Given the description of an element on the screen output the (x, y) to click on. 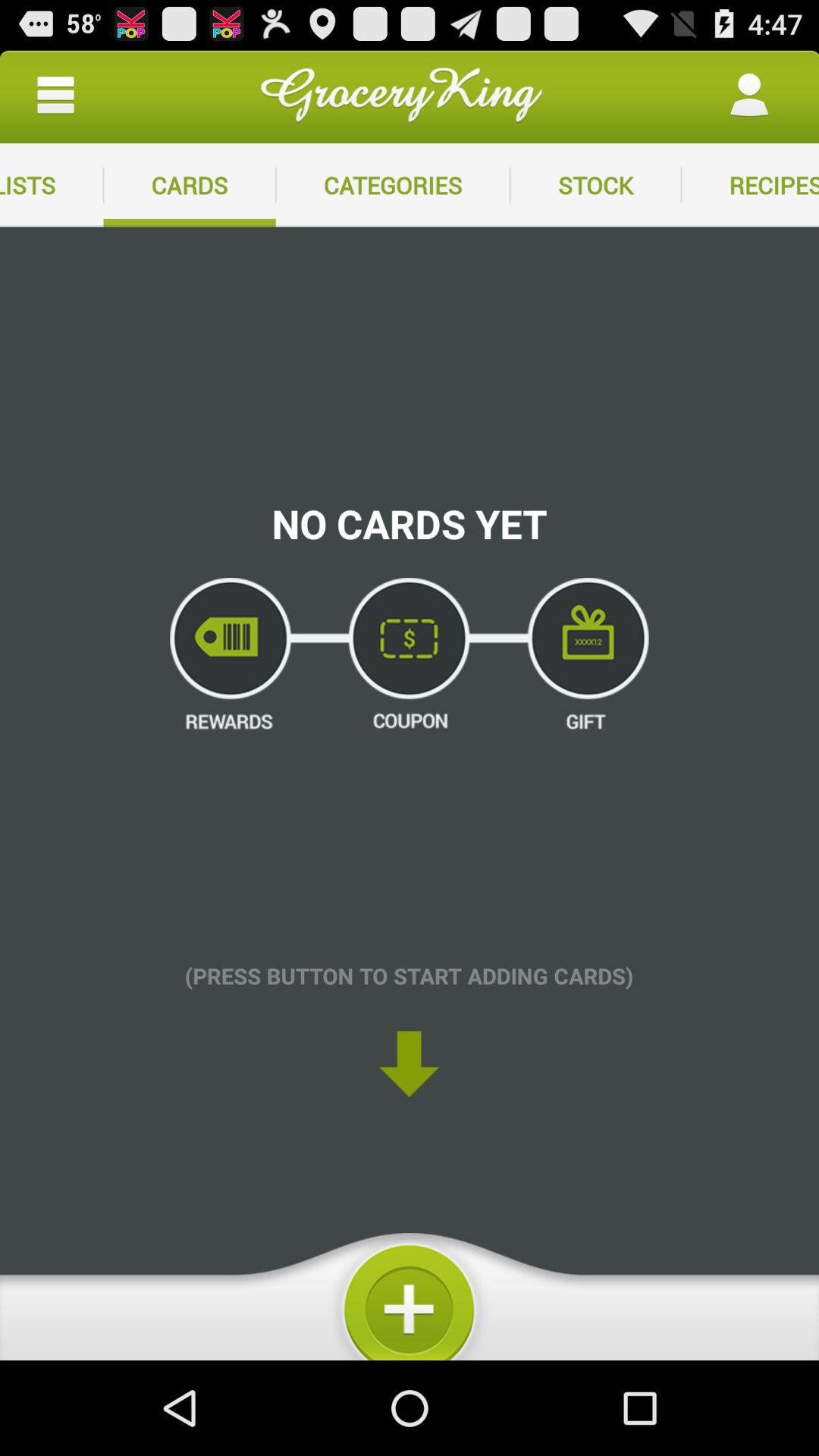
choose icon to the left of the cards icon (55, 95)
